Given the description of an element on the screen output the (x, y) to click on. 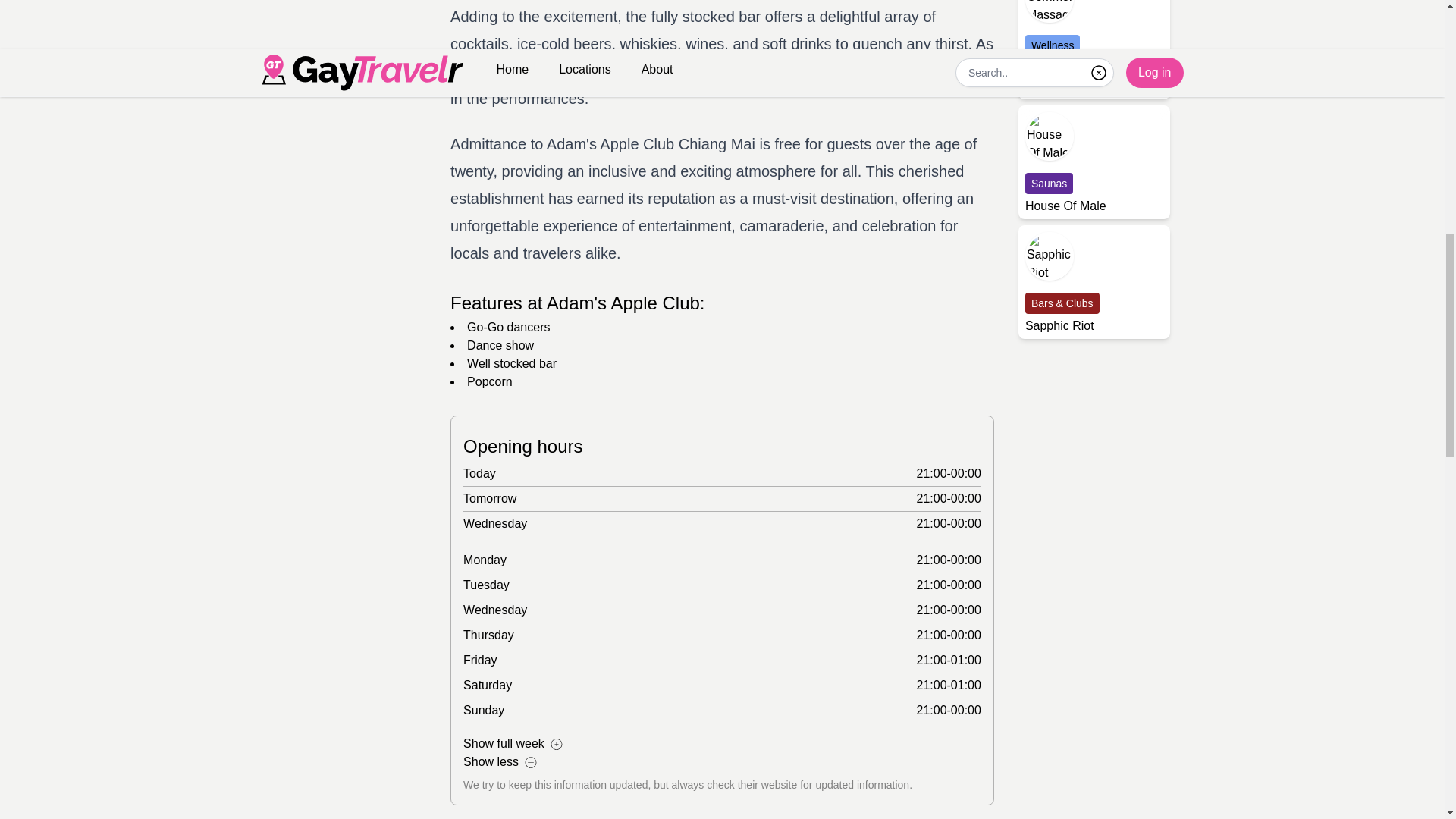
Sapphic Riot (1093, 282)
House Of Male (1093, 162)
